Given the description of an element on the screen output the (x, y) to click on. 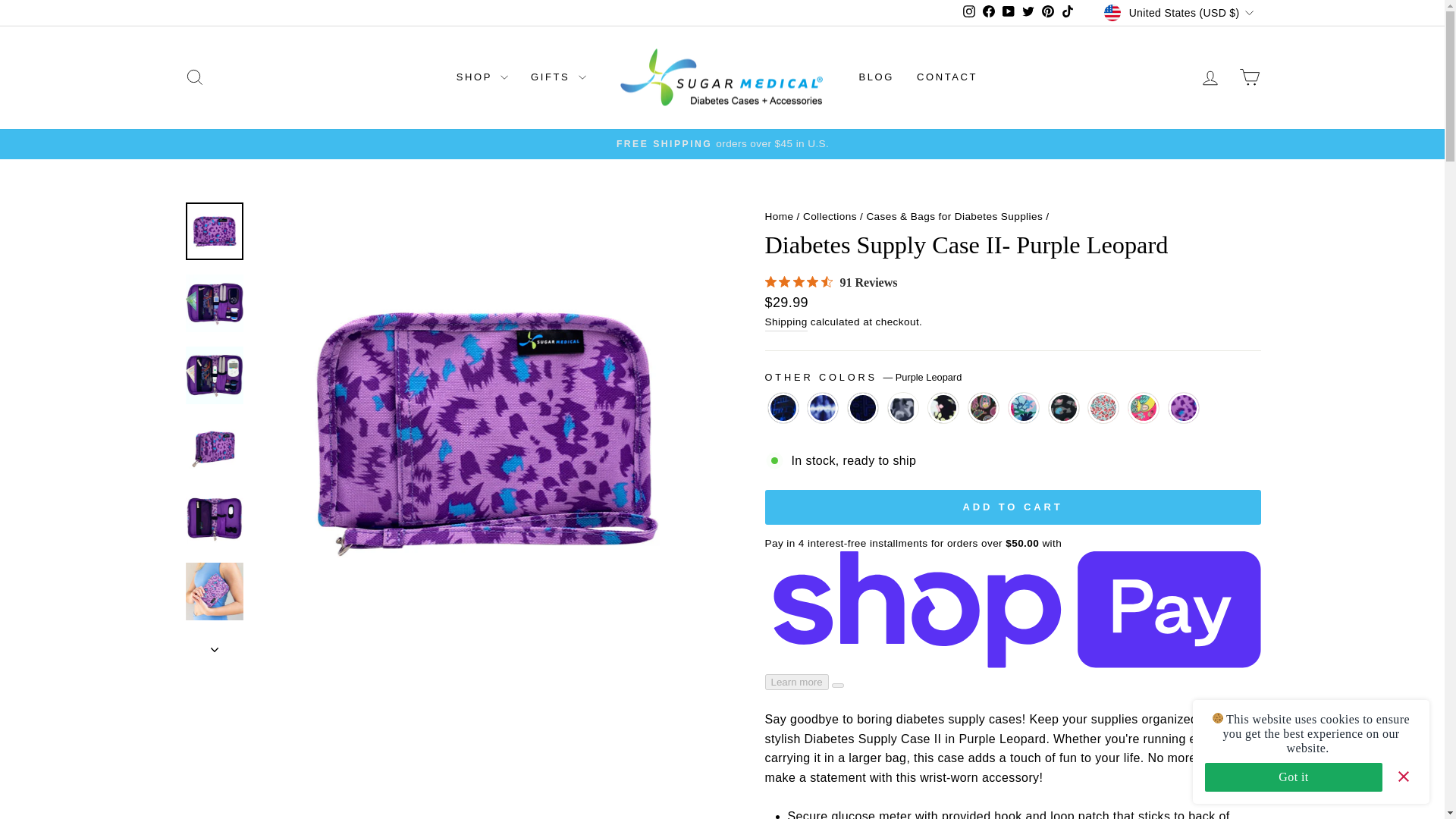
Sugar Medical on Instagram (968, 12)
Sugar Medical on YouTube (1007, 12)
ICON-SEARCH (194, 76)
91 Reviews (830, 282)
twitter (1027, 10)
Sugar Medical on TikTok (1067, 12)
Diabetes Supply Case II- Harper (983, 409)
Diabetes Supply Case II- Grey Camo (903, 409)
Diabetes Supply Case II- Gamer (862, 409)
Back to the frontpage (778, 215)
Sugar Medical on Facebook (988, 12)
instagram (968, 10)
Diabetes Supply Case II- Alex (782, 409)
ACCOUNT (1210, 77)
